Given the description of an element on the screen output the (x, y) to click on. 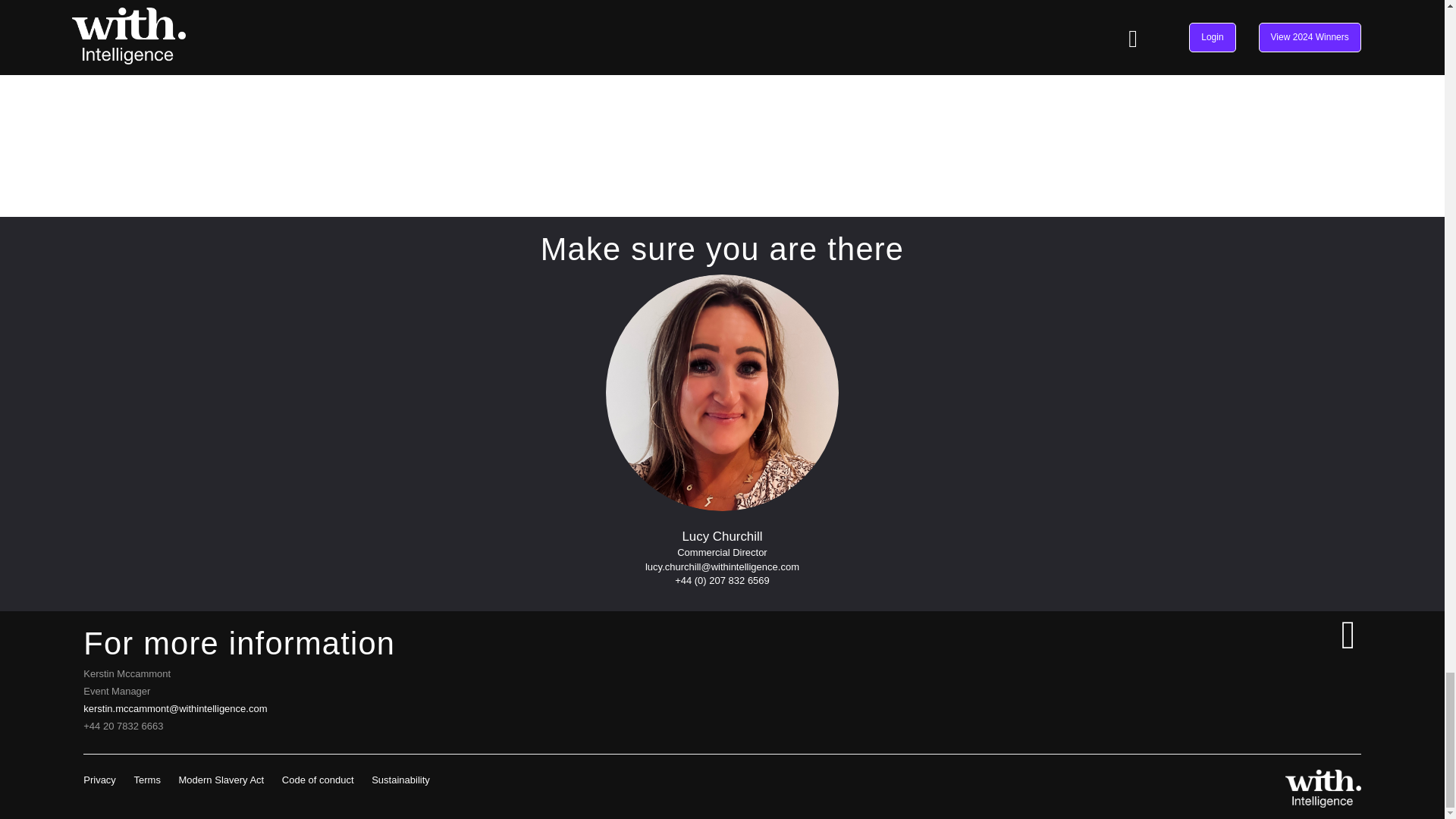
Lucy Churchill (721, 392)
Code of conduct (317, 779)
Sustainability (400, 779)
Modern Slavery Act (221, 779)
Terms (146, 779)
Privacy (99, 779)
